Given the description of an element on the screen output the (x, y) to click on. 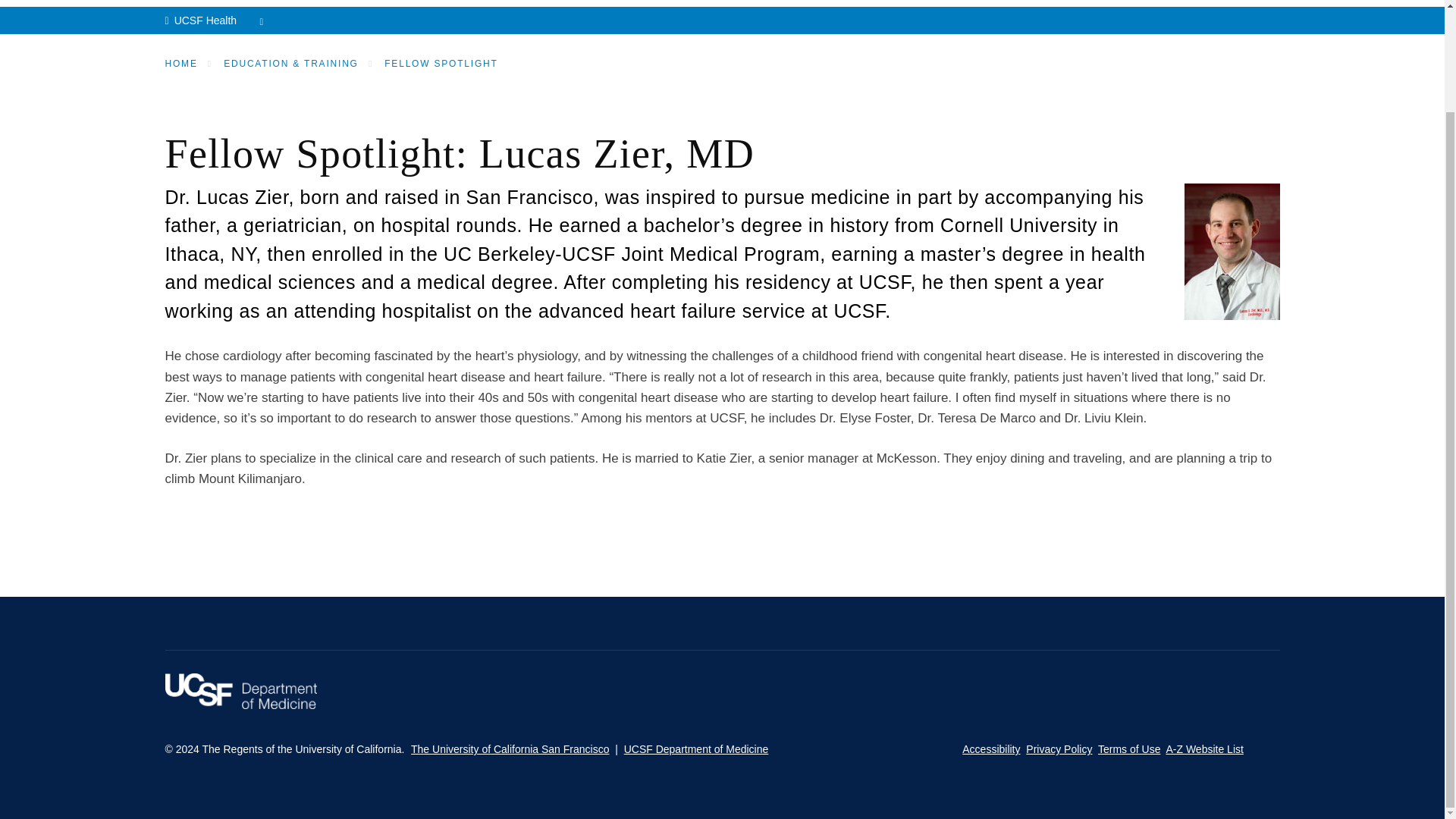
UCSF Health (217, 20)
